Given the description of an element on the screen output the (x, y) to click on. 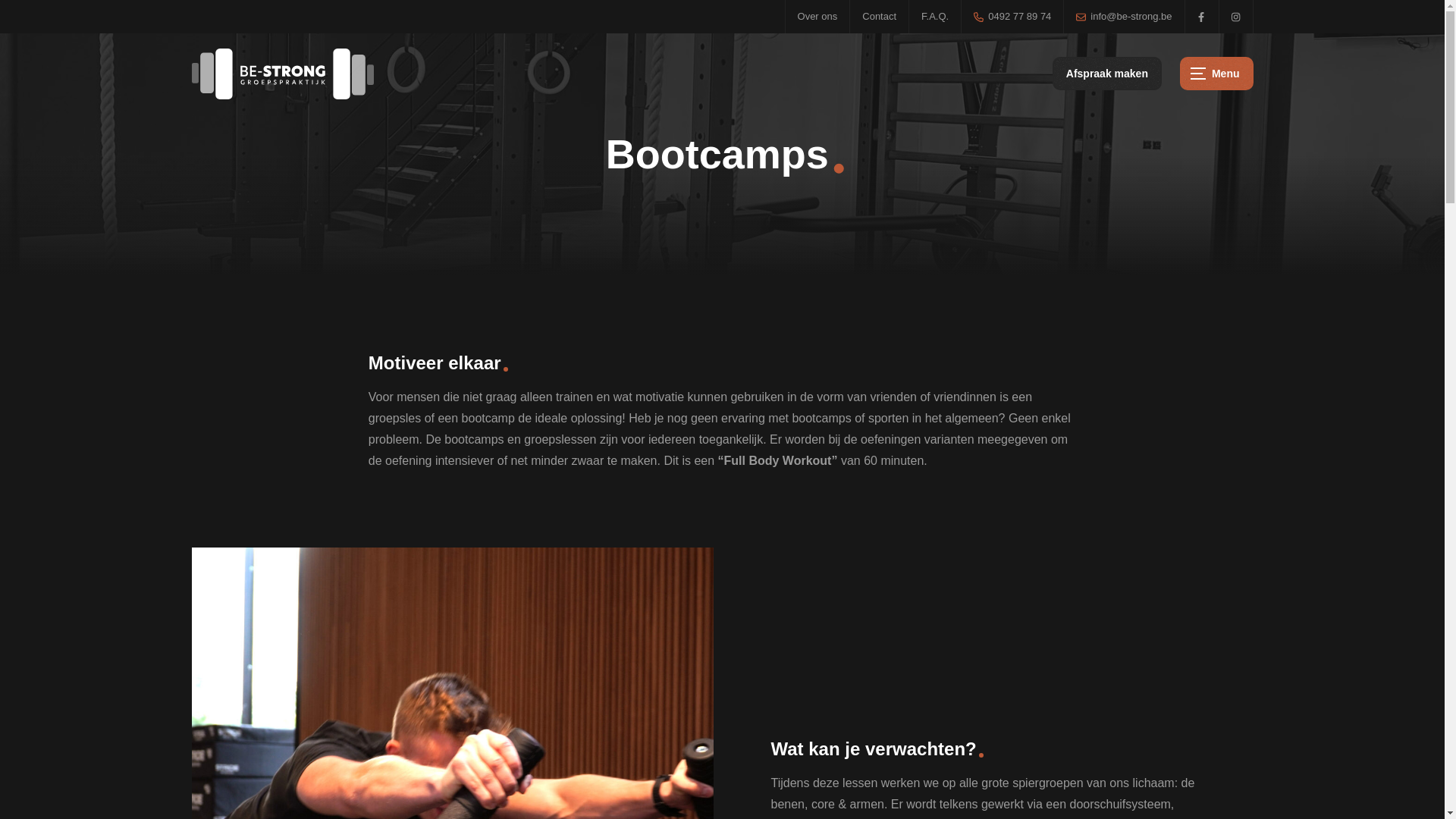
Afspraak maken Element type: text (1106, 73)
Over ons Element type: text (817, 16)
info@be-strong.be Element type: text (1123, 16)
F.A.Q. Element type: text (934, 16)
Contact Element type: text (879, 16)
Menu Element type: text (1216, 73)
0492 77 89 74 Element type: text (1012, 16)
